Given the description of an element on the screen output the (x, y) to click on. 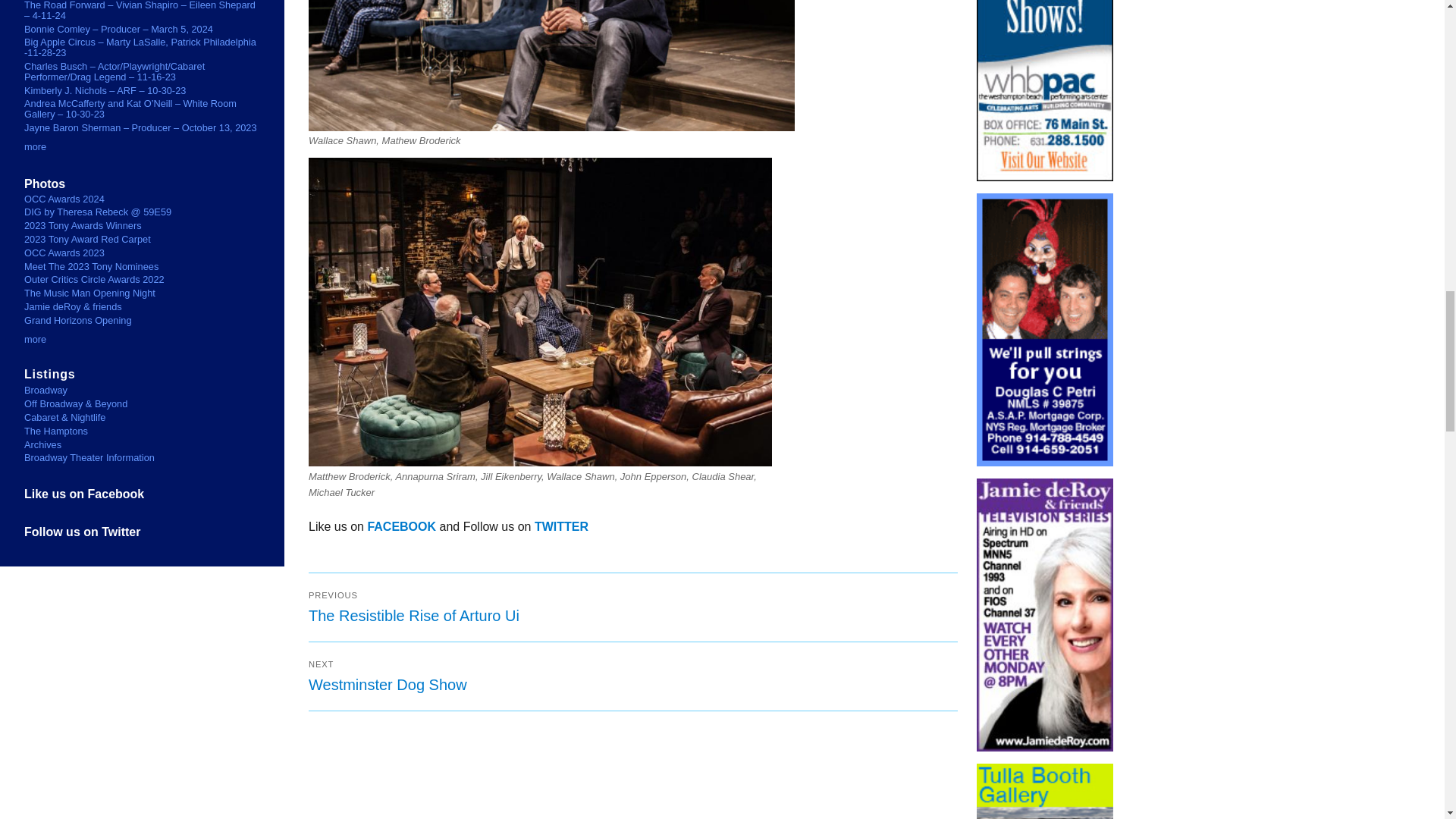
TWITTER (633, 676)
FACEBOOK (561, 526)
